Given the description of an element on the screen output the (x, y) to click on. 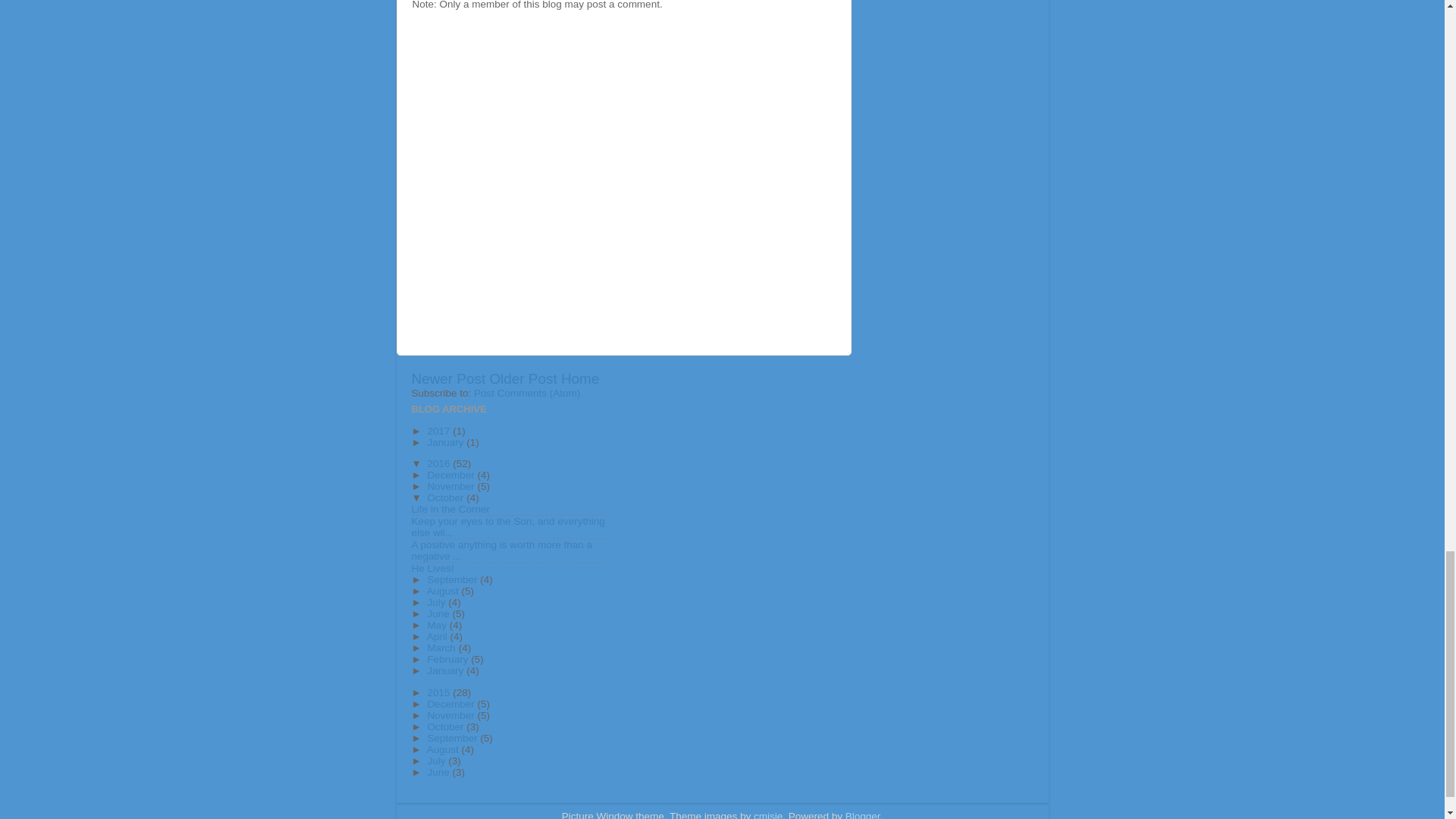
Life in the Corner (449, 509)
Older Post (522, 378)
2016 (439, 463)
December (451, 474)
2017 (439, 430)
Older Post (522, 378)
Home (579, 378)
Newer Post (447, 378)
A positive anything is worth more than a negative ... (501, 549)
October (445, 497)
He Lives! (431, 568)
Keep your eyes to the Son, and everything else wil... (507, 526)
November (451, 486)
September (453, 579)
January (445, 441)
